Given the description of an element on the screen output the (x, y) to click on. 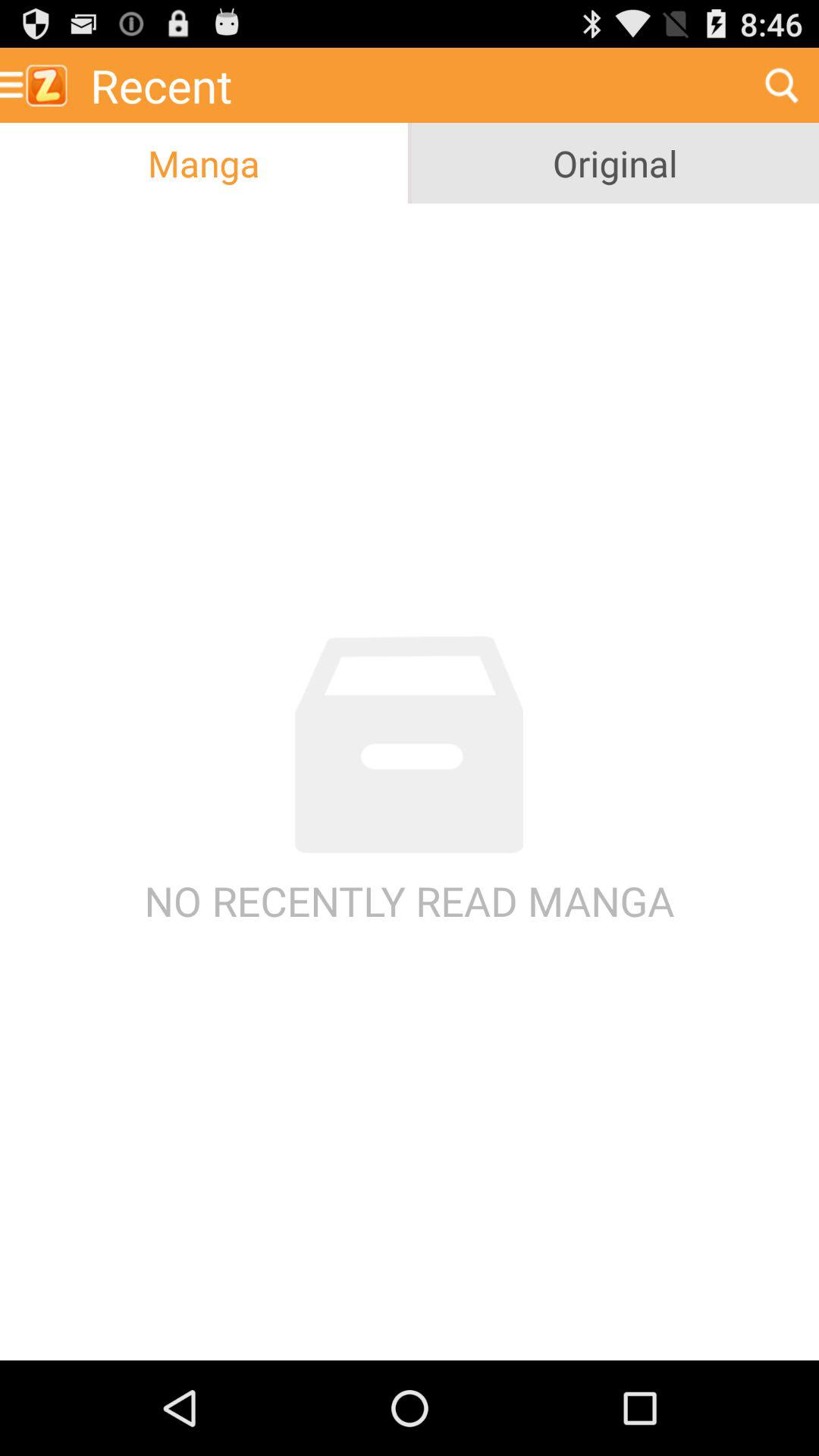
select radio button above original item (781, 84)
